Given the description of an element on the screen output the (x, y) to click on. 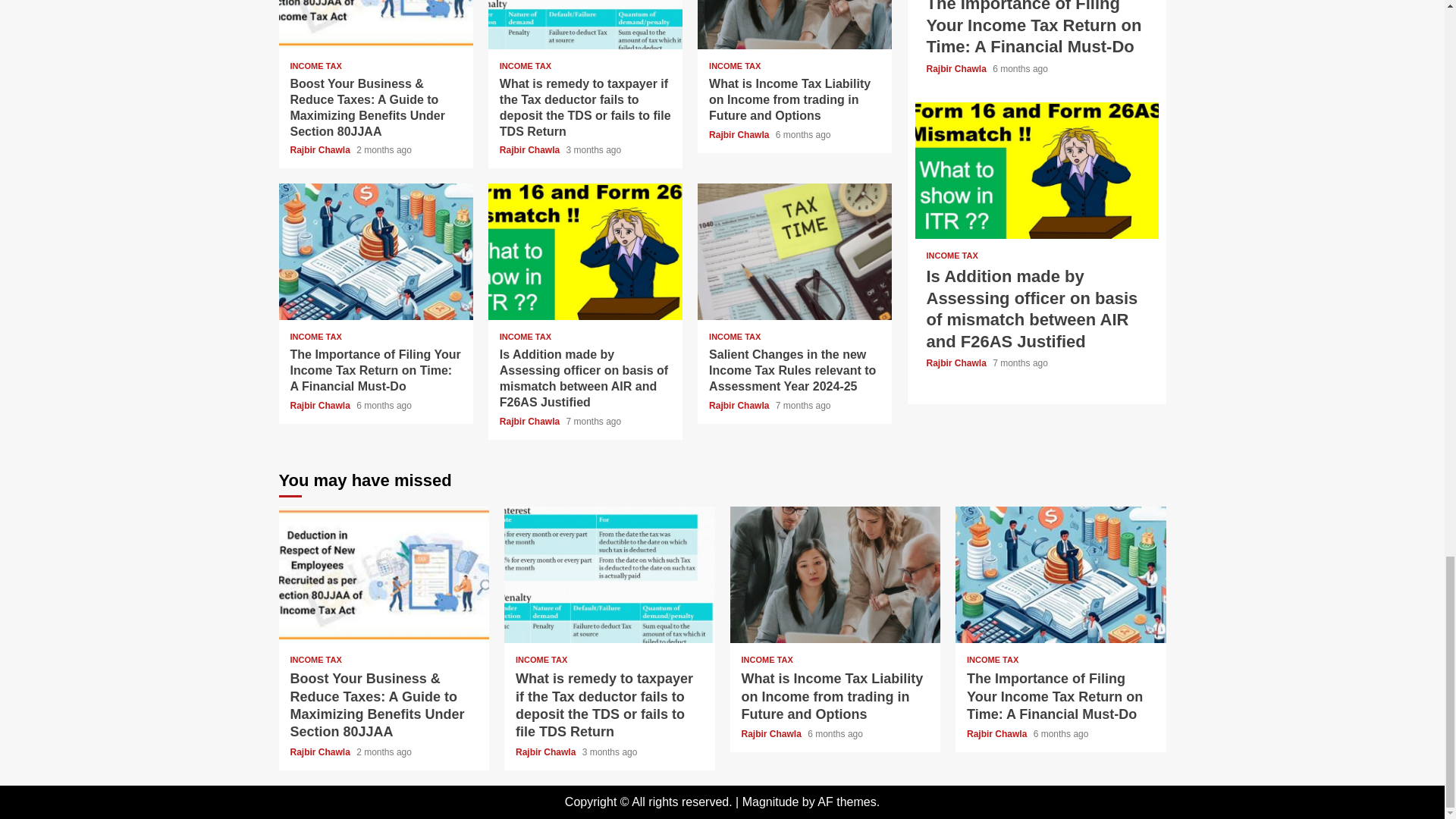
Rajbir Chawla (530, 149)
INCOME TAX (734, 66)
INCOME TAX (314, 66)
Rajbir Chawla (320, 149)
INCOME TAX (525, 66)
Rajbir Chawla (320, 405)
INCOME TAX (314, 336)
Rajbir Chawla (740, 134)
INCOME TAX (525, 336)
